Given the description of an element on the screen output the (x, y) to click on. 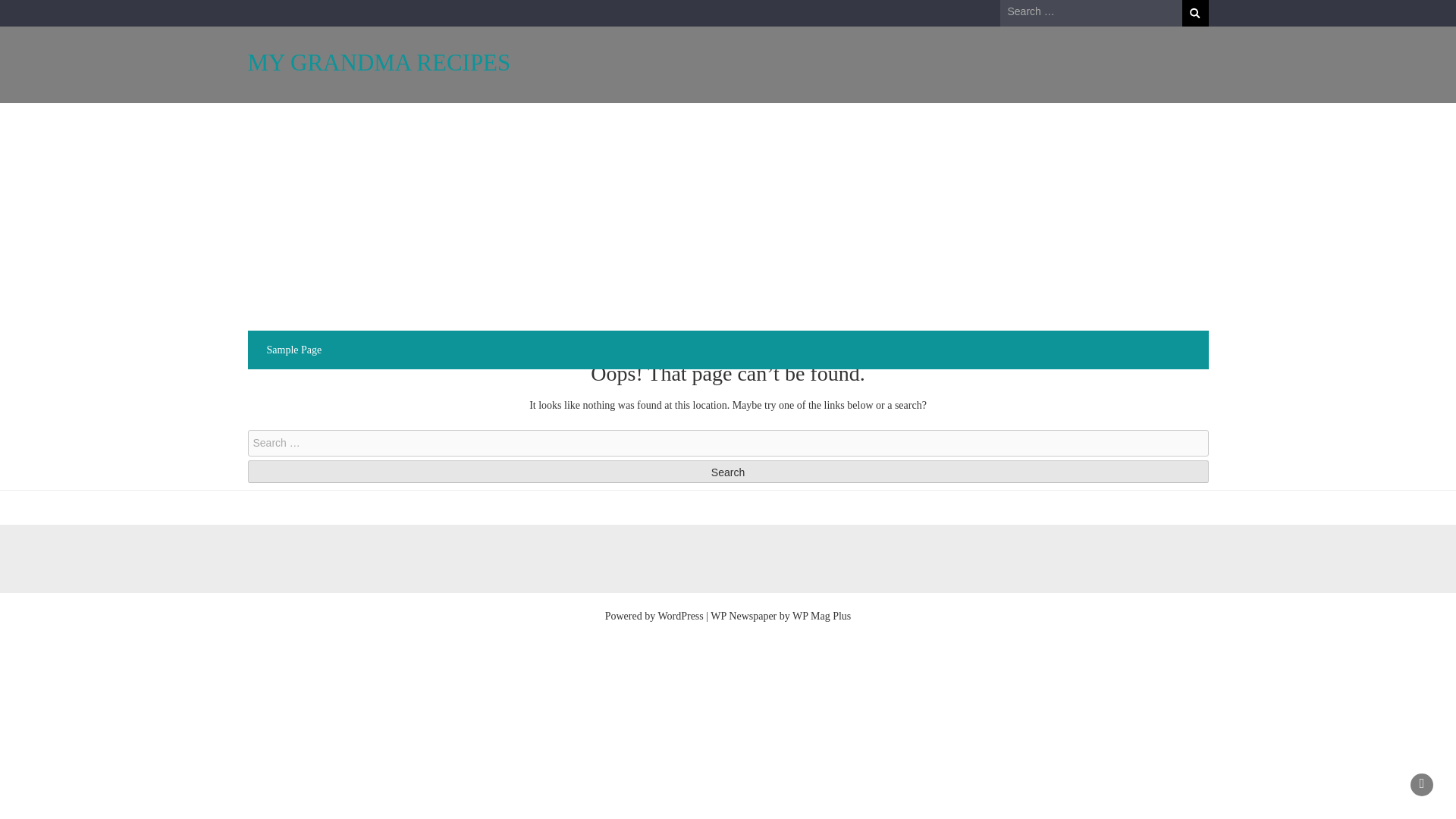
Search (727, 471)
Search (1194, 13)
Search (1194, 13)
Search (727, 471)
Sample Page (294, 349)
Search for: (1089, 11)
Search (1194, 13)
WordPress (680, 615)
WP Newspaper by WP Mag Plus (780, 615)
Search (727, 471)
MY GRANDMA RECIPES (379, 62)
Search for: (727, 442)
